Given the description of an element on the screen output the (x, y) to click on. 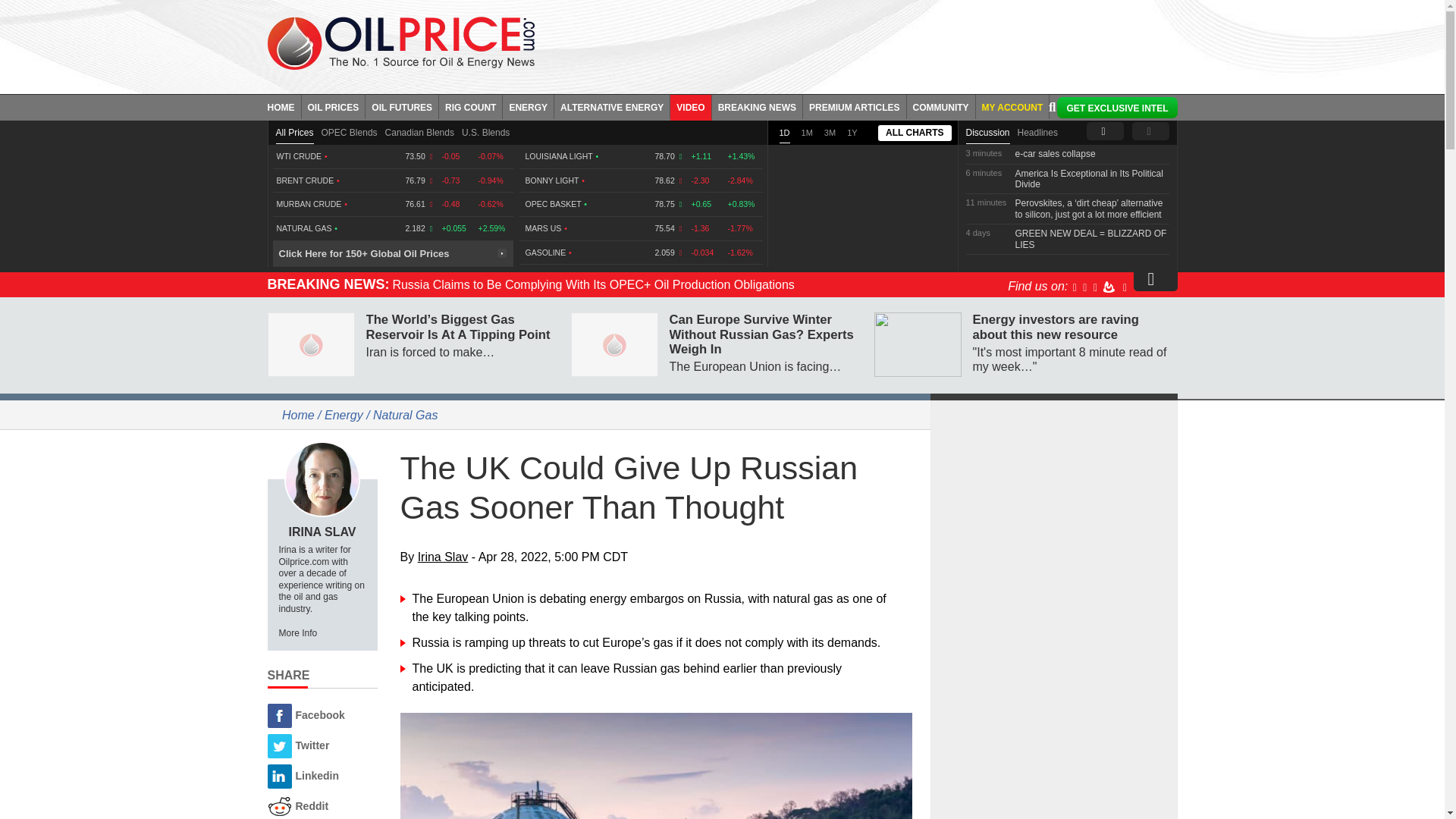
RIG COUNT (470, 106)
Oil prices - Oilprice.com (400, 42)
HOME (283, 106)
OIL FUTURES (402, 106)
BREAKING NEWS (757, 106)
Uk Russian Gas (656, 765)
ENERGY (528, 106)
OIL PRICES (333, 106)
COMMUNITY (941, 106)
MY ACCOUNT (1012, 106)
